Given the description of an element on the screen output the (x, y) to click on. 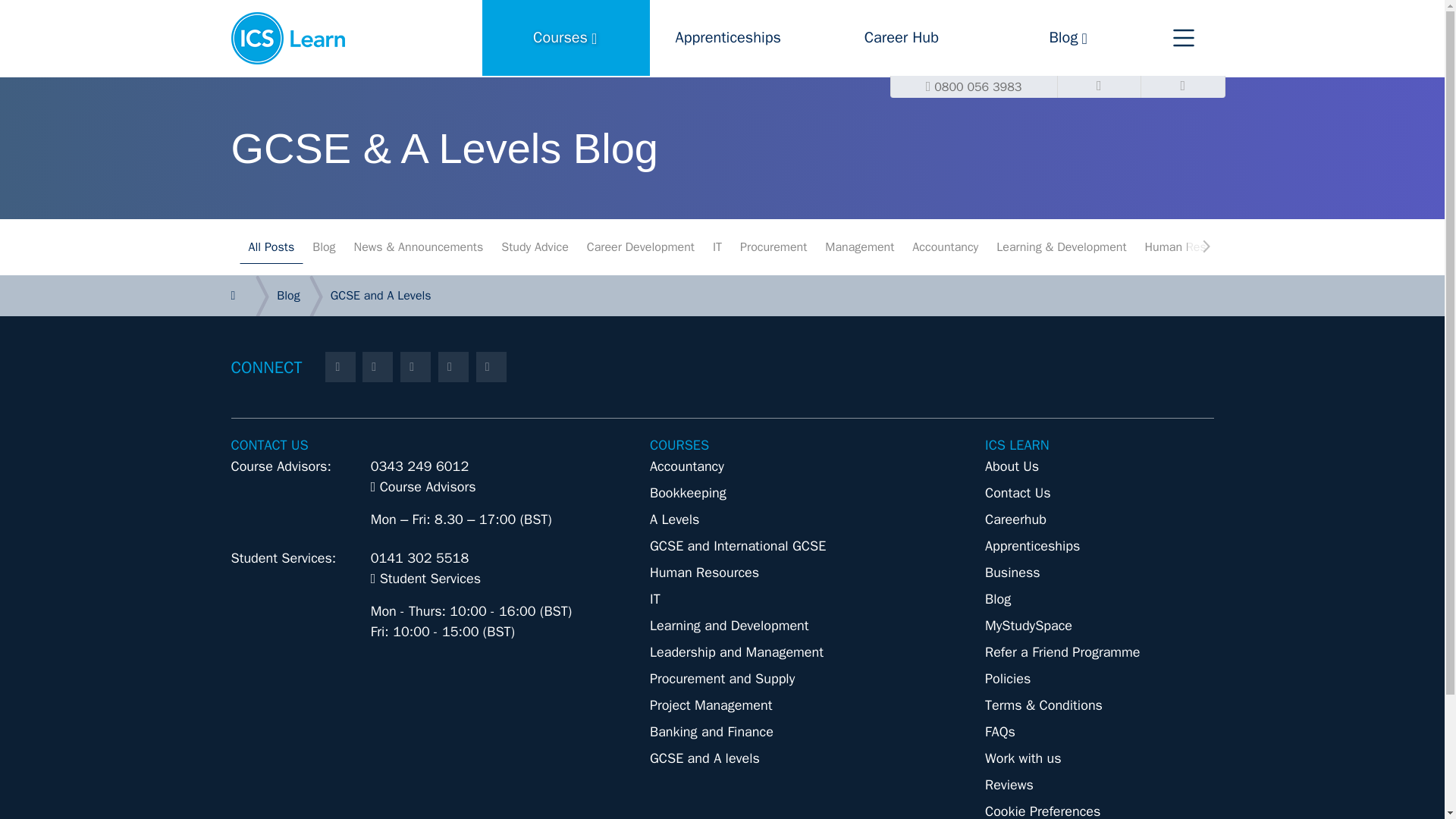
Twitter (377, 367)
Facebook (339, 367)
LinkedIn (415, 367)
Courses (565, 38)
Basket (1182, 86)
Youtube (722, 295)
Instagram (491, 367)
